Given the description of an element on the screen output the (x, y) to click on. 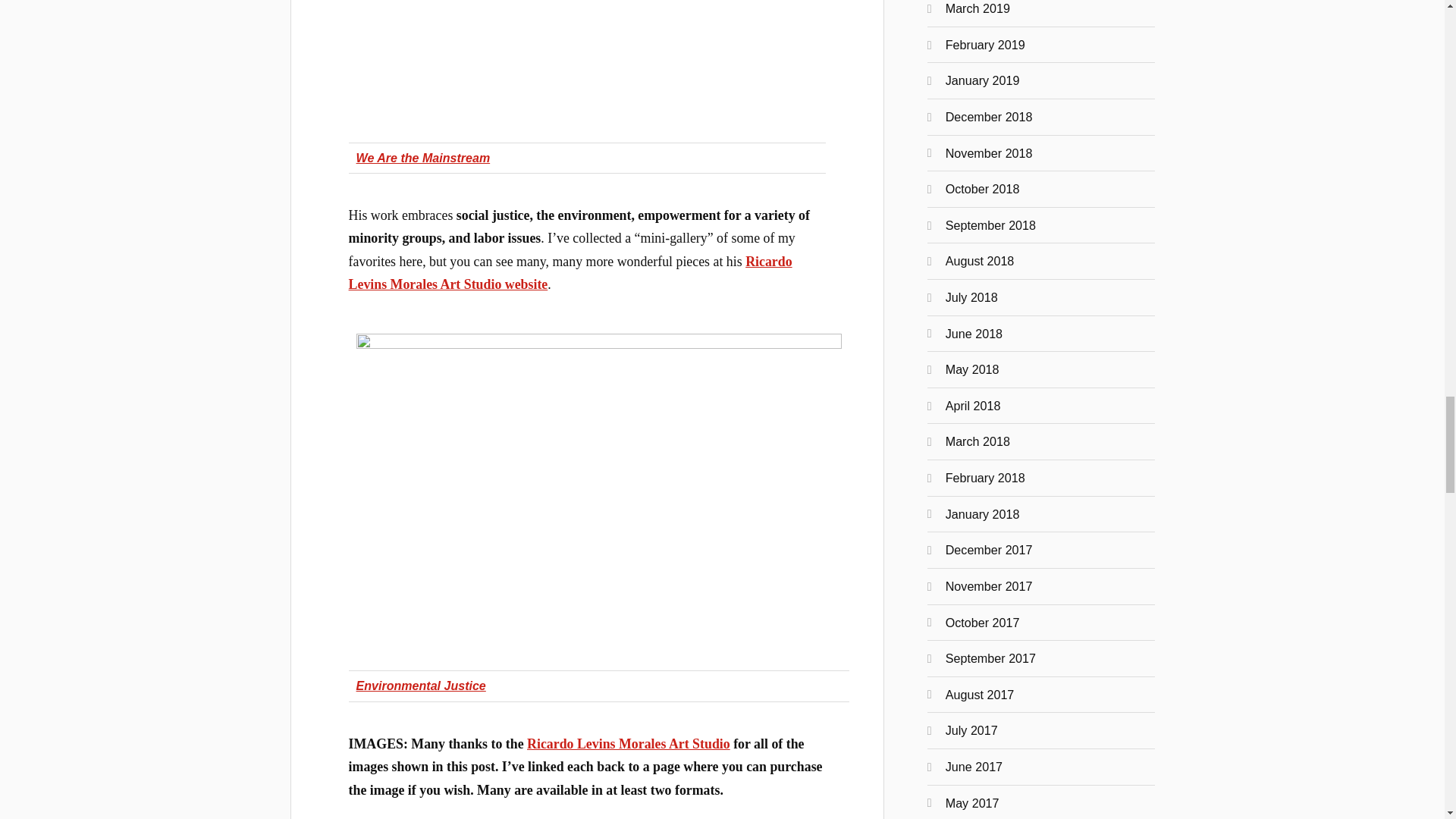
Ricardo Levins Morales Art Studio website (570, 272)
We Are the Mainstream (423, 157)
